Given the description of an element on the screen output the (x, y) to click on. 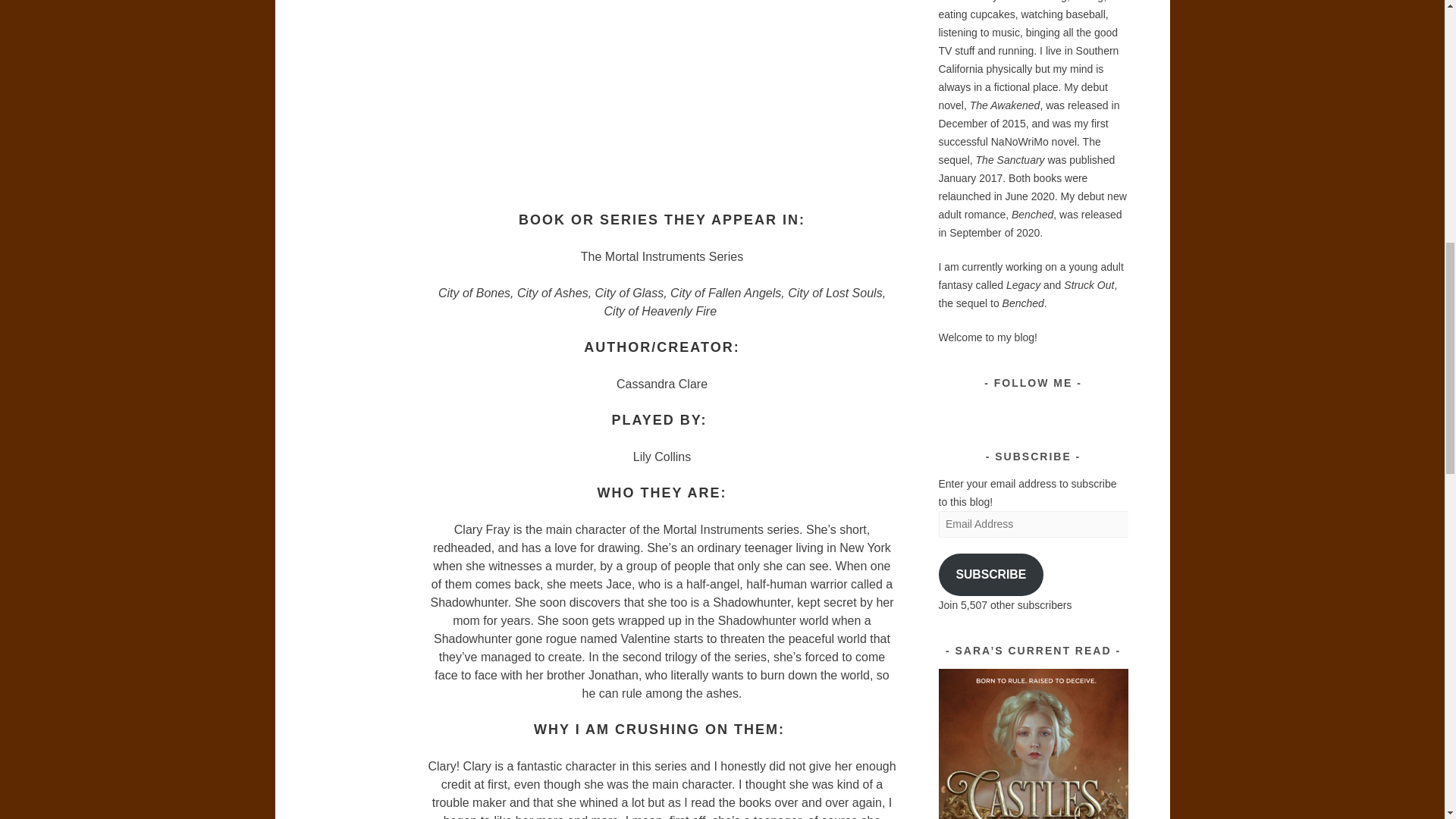
Twitter (1001, 411)
Facebook (1022, 411)
Instagram (980, 411)
Goodreads (1042, 411)
